Given the description of an element on the screen output the (x, y) to click on. 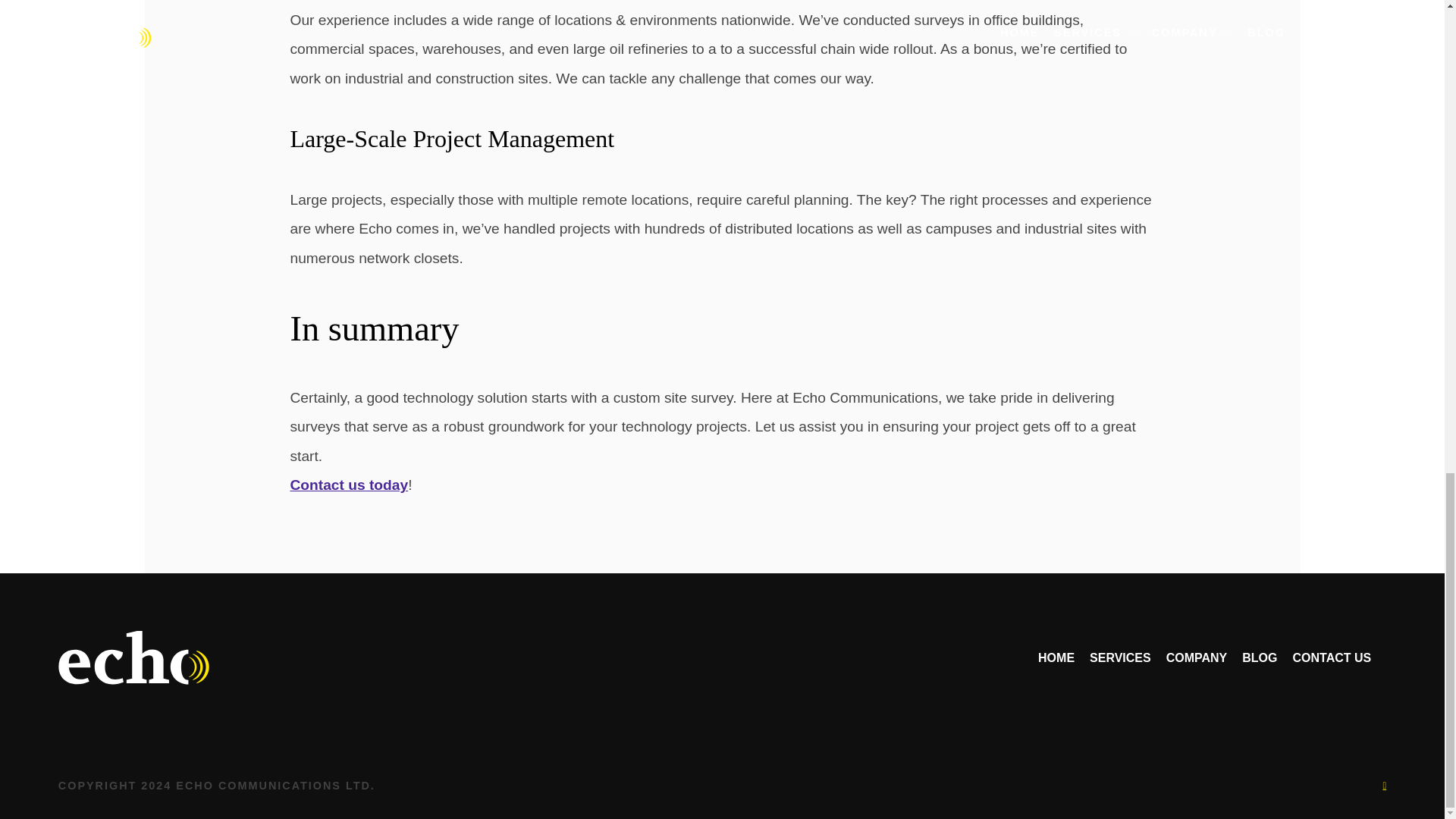
SERVICES (1120, 657)
COMPANY (1196, 657)
BLOG (1258, 657)
CONTACT US (1331, 657)
Contact us today (348, 484)
HOME (1056, 657)
